Given the description of an element on the screen output the (x, y) to click on. 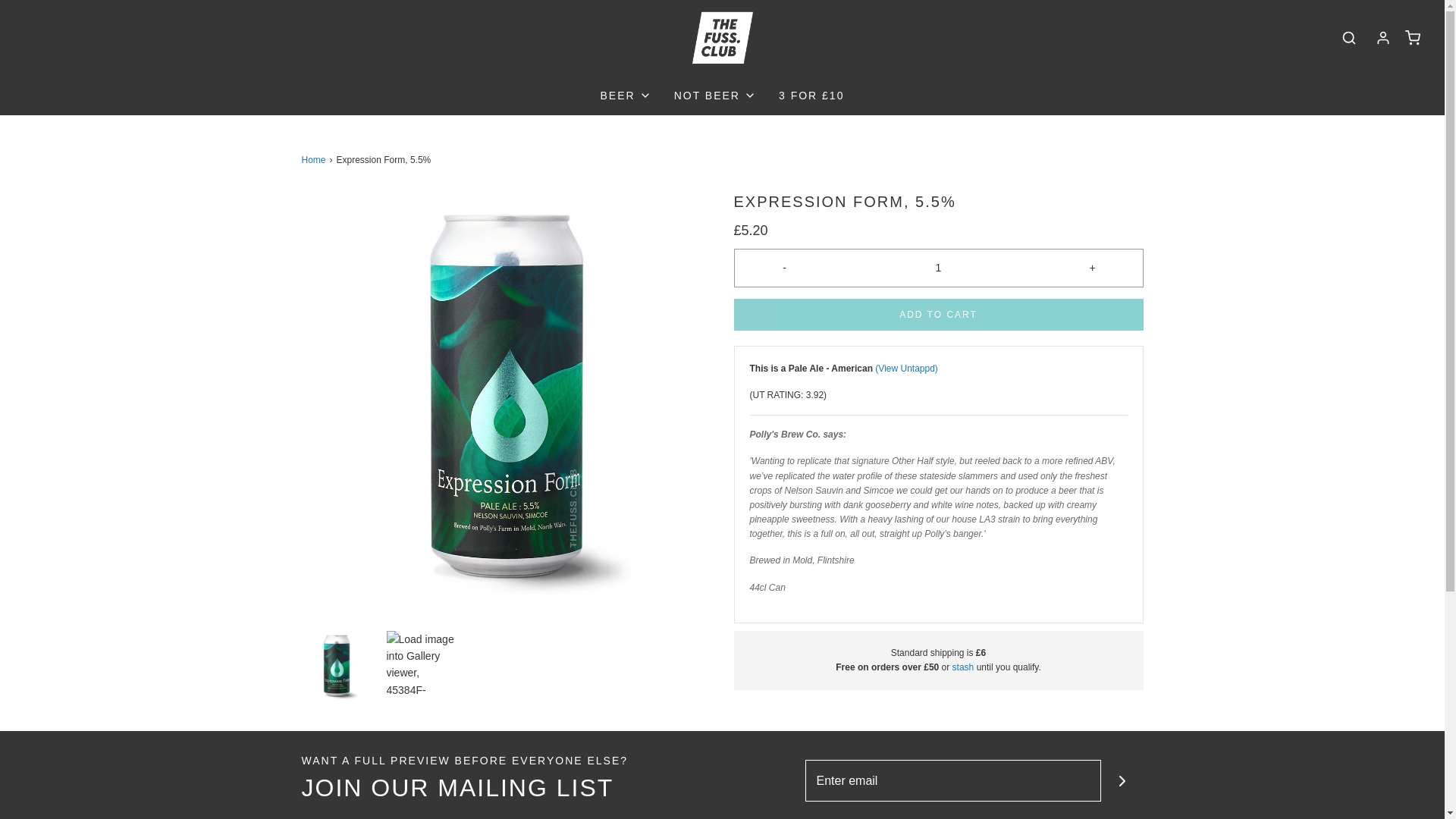
Delivery Information (963, 666)
Back to the frontpage (315, 160)
Cart (1412, 37)
Search (1348, 37)
Log in (1382, 37)
1 (938, 267)
